Given the description of an element on the screen output the (x, y) to click on. 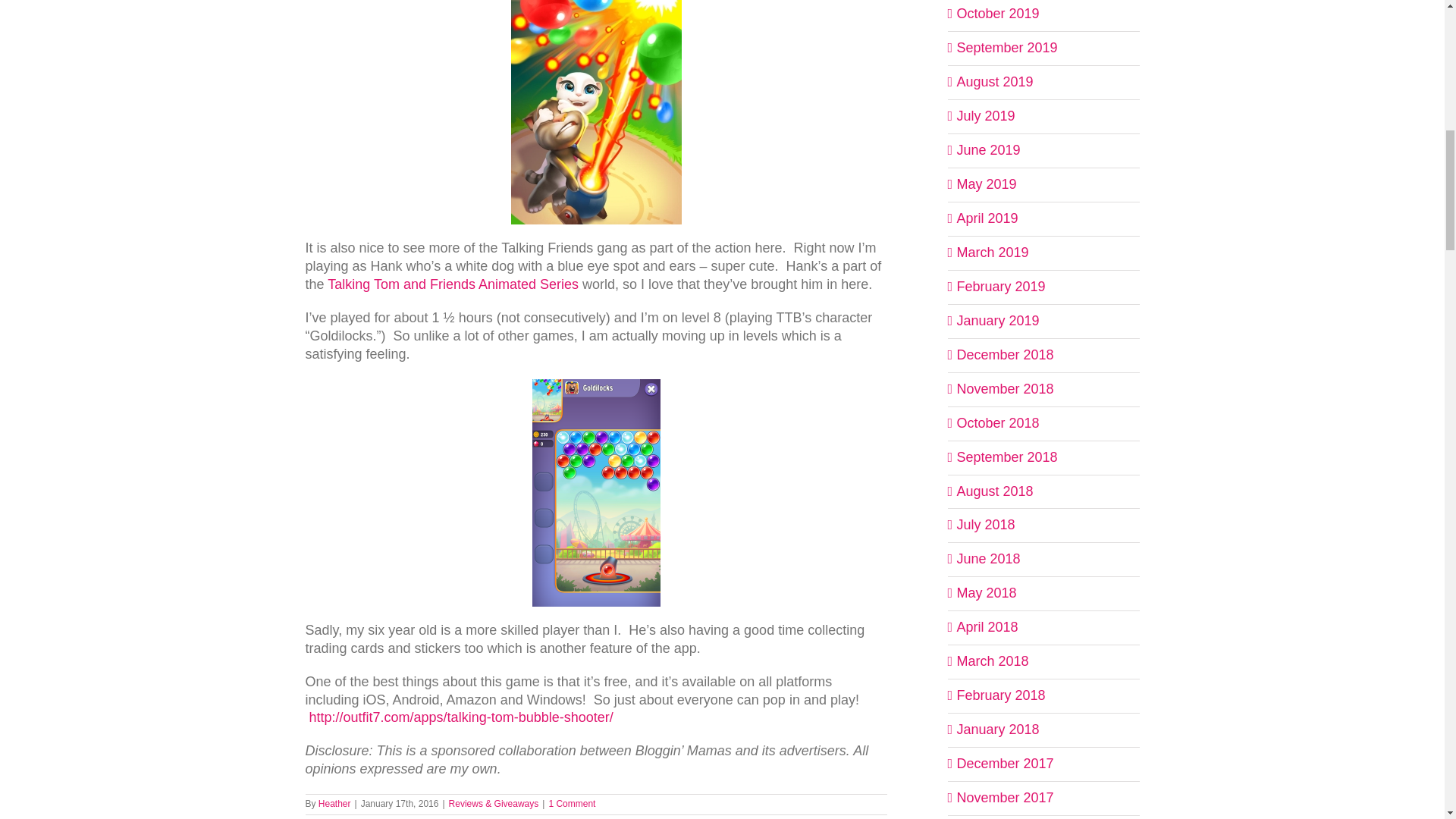
Heather (334, 803)
1 Comment (571, 803)
Posts by Heather (334, 803)
Talking Tom and Friends Animated Series (452, 283)
